Given the description of an element on the screen output the (x, y) to click on. 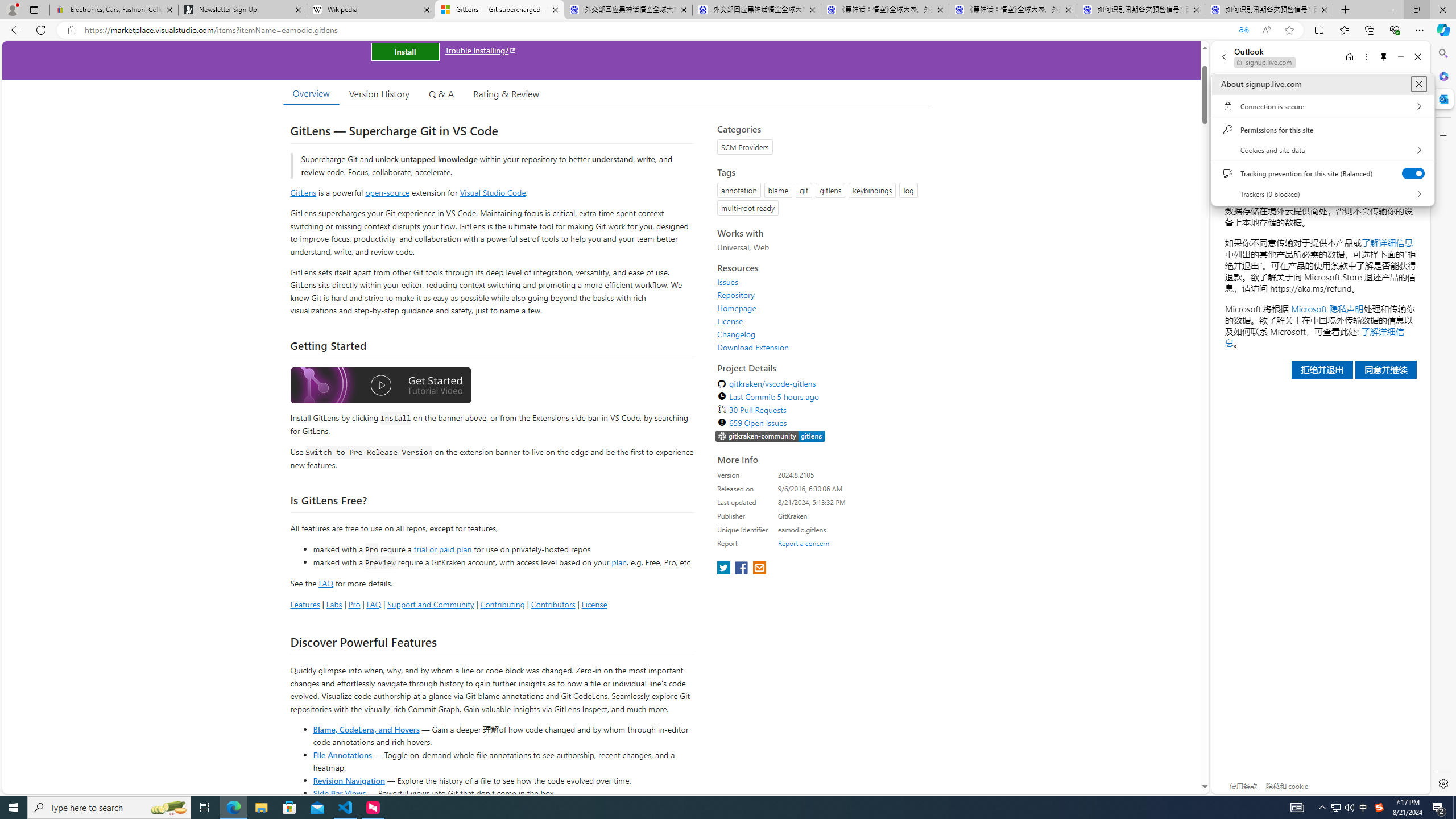
Action Center, 2 new notifications (1439, 807)
Trackers (0 blocked) (1322, 193)
Connection is secure (1322, 105)
Type here to search (108, 807)
Search highlights icon opens search home window (167, 807)
Tray Input Indicator - Chinese (Simplified, China) (1378, 807)
Visual Studio Code - 1 running window (1335, 807)
Permissions for this site (345, 807)
Tracking prevention for this site (Balanced) (1322, 129)
